Given the description of an element on the screen output the (x, y) to click on. 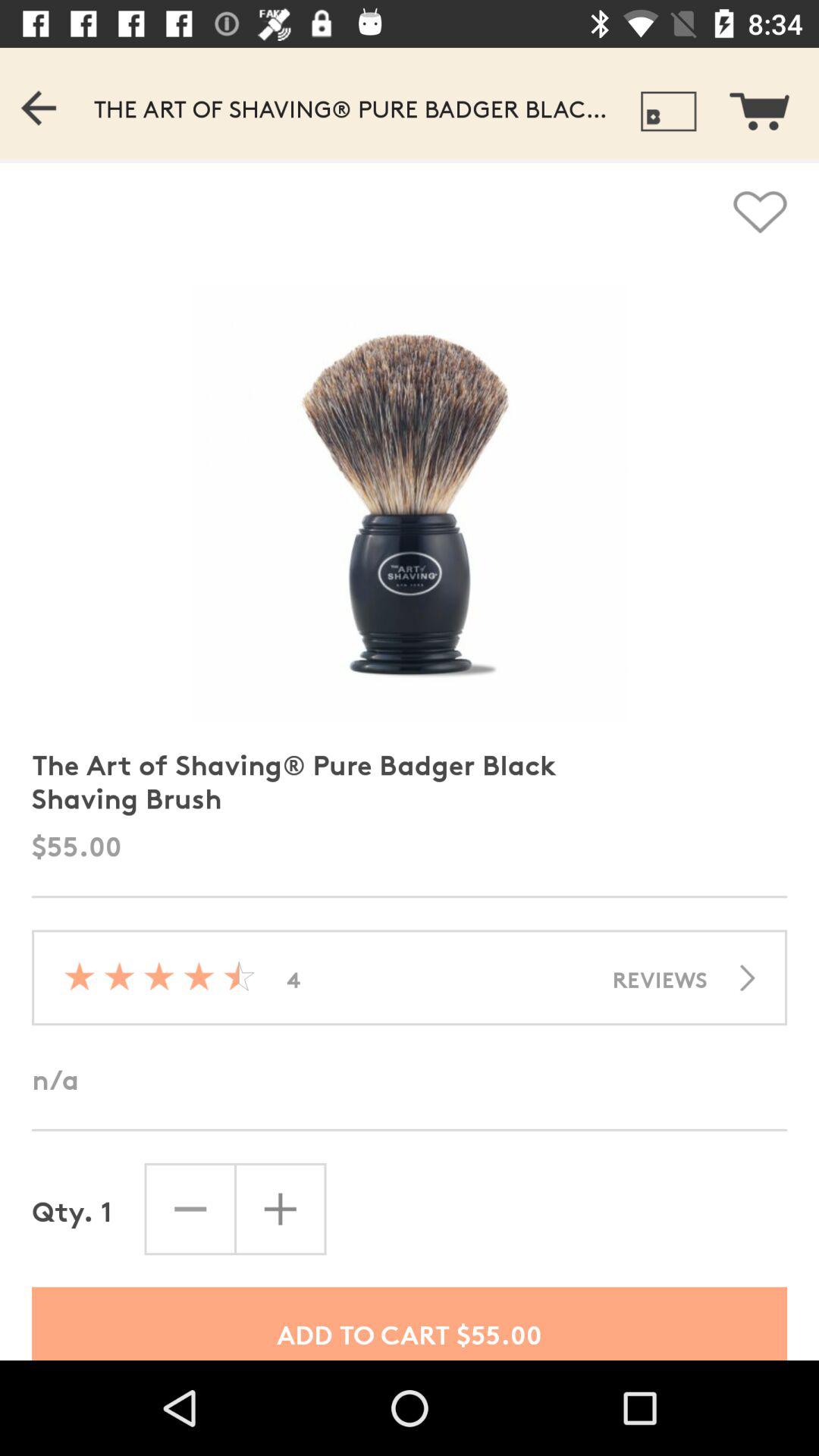
add to cart (769, 103)
